Given the description of an element on the screen output the (x, y) to click on. 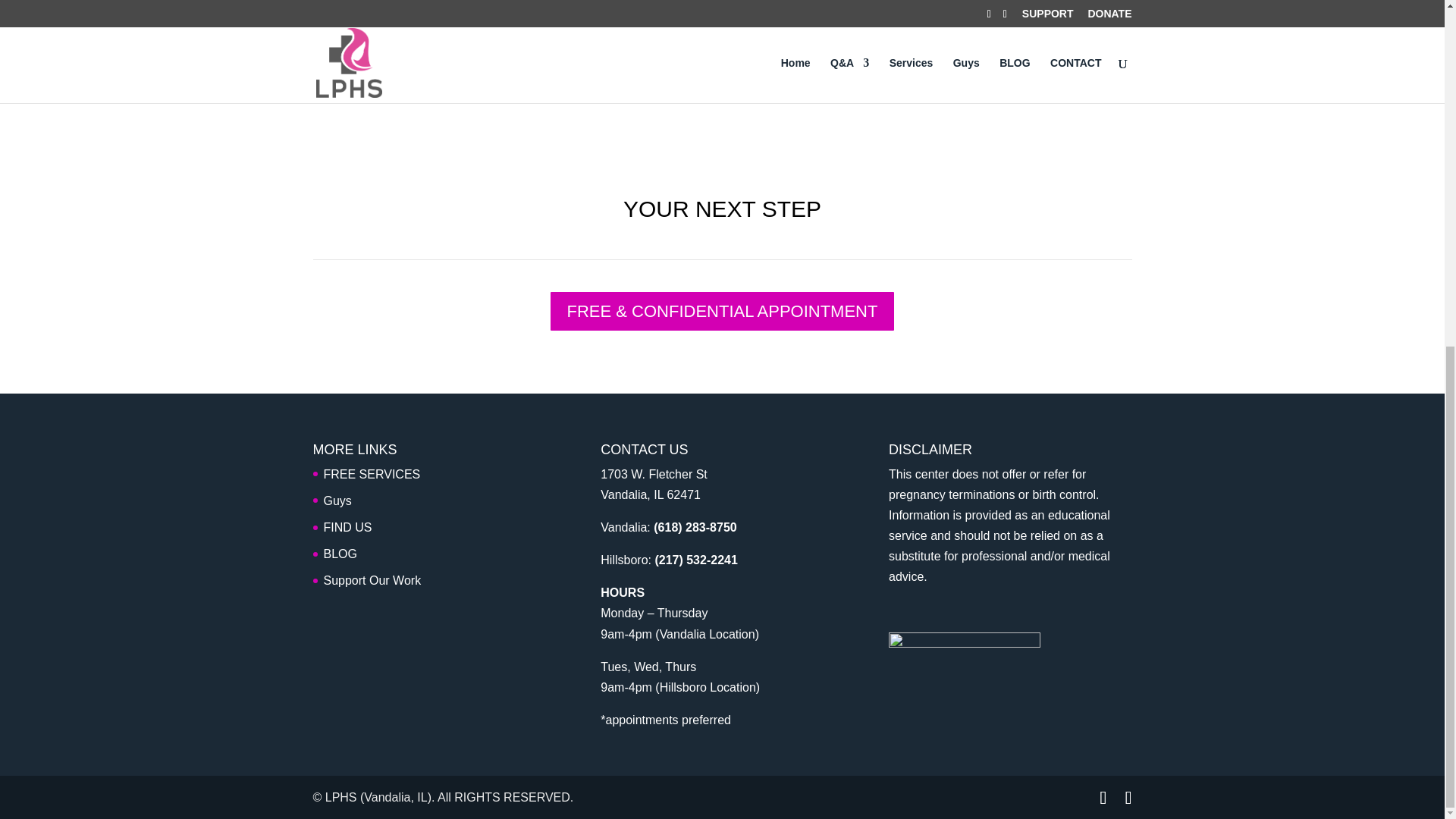
Guys (336, 500)
FIND US (347, 526)
FREE SERVICES (371, 473)
Parenting (937, 17)
Support Our Work (371, 580)
BLOG (339, 553)
